Given the description of an element on the screen output the (x, y) to click on. 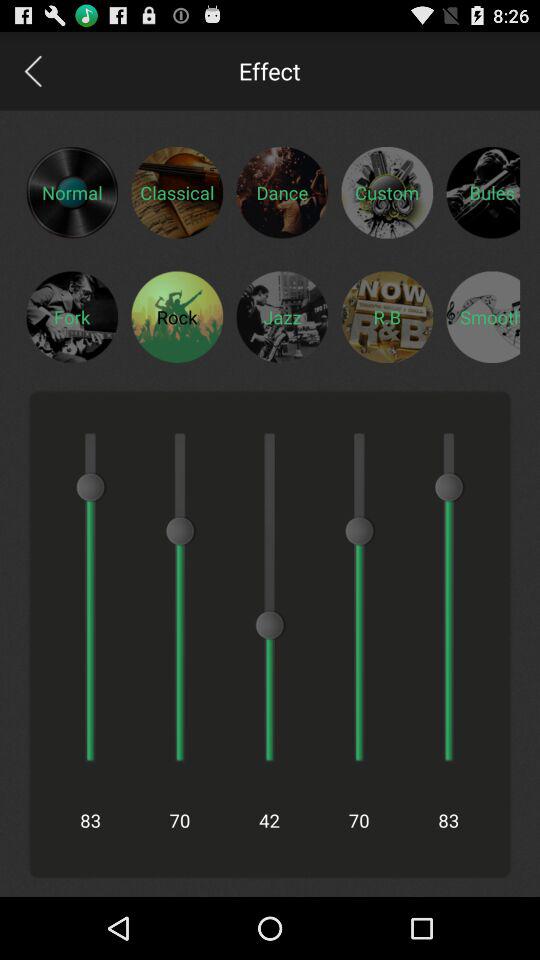
switch to normal preset (72, 191)
